Given the description of an element on the screen output the (x, y) to click on. 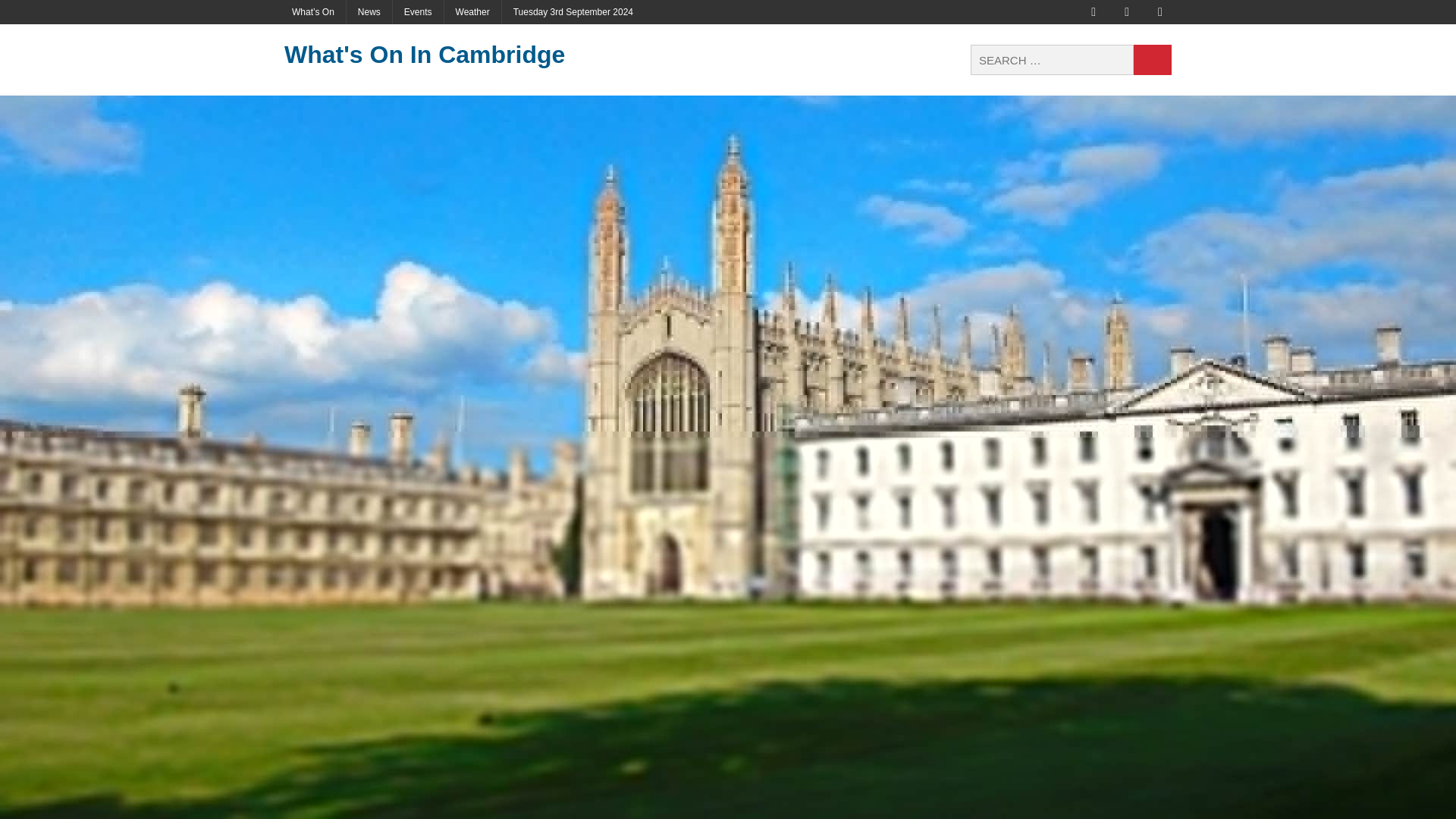
Search (1153, 60)
Weather (472, 12)
What'S On In Cambridge (423, 55)
Events (418, 12)
Search (1153, 60)
Search (1153, 60)
Tuesday 3rd September 2024 (573, 12)
What's On In Cambridge (423, 55)
News (368, 12)
